Given the description of an element on the screen output the (x, y) to click on. 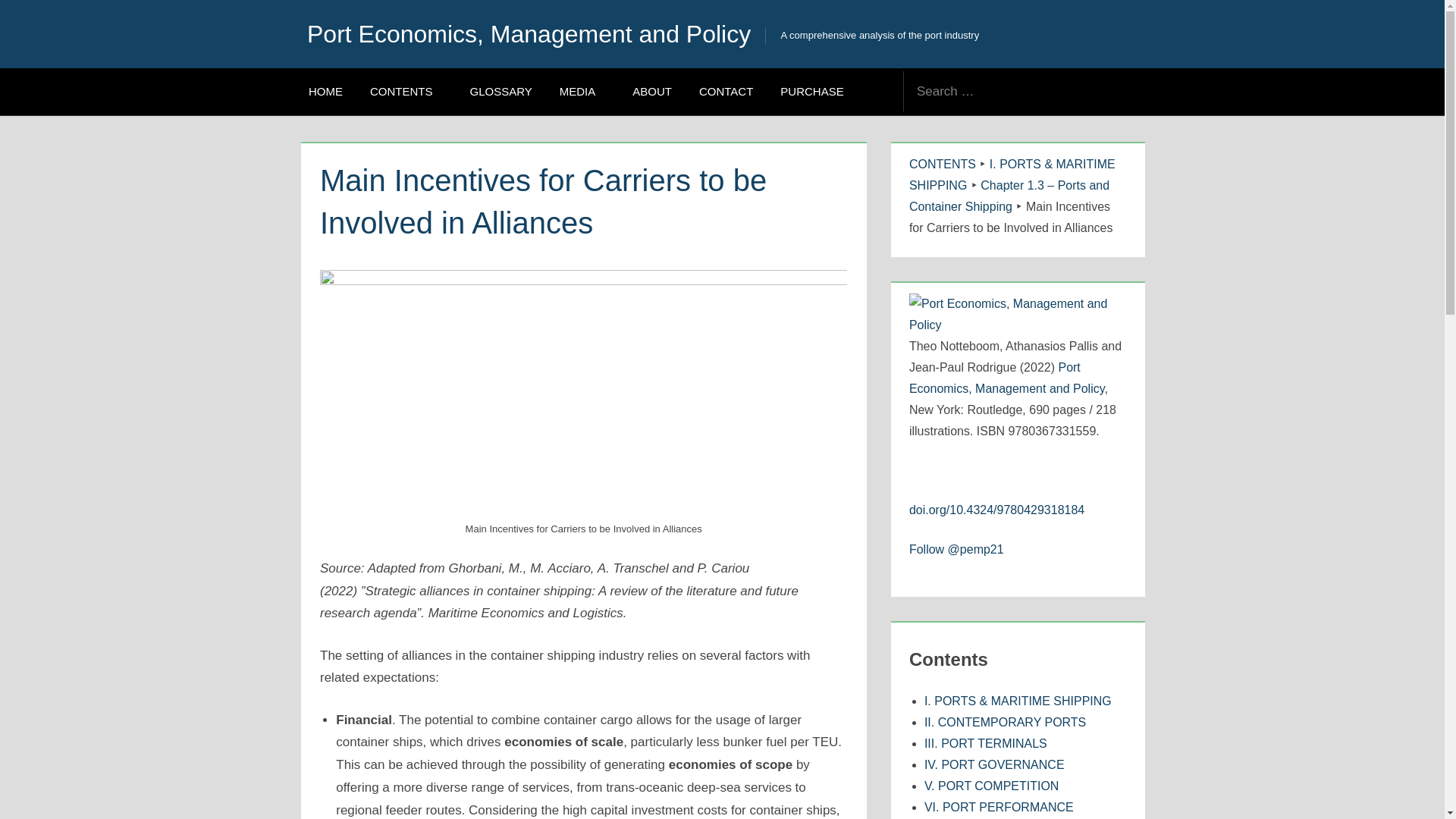
II. CONTEMPORARY PORTS (1005, 721)
CONTENTS (406, 91)
IV. PORT GOVERNANCE (994, 764)
HOME (325, 91)
Main Incentives for Carriers to be Involved in Alliances (583, 280)
ABOUT (651, 91)
GLOSSARY (501, 91)
CONTENTS (941, 164)
CONTENTS (941, 164)
Port Economics, Management and Policy (1006, 377)
